Given the description of an element on the screen output the (x, y) to click on. 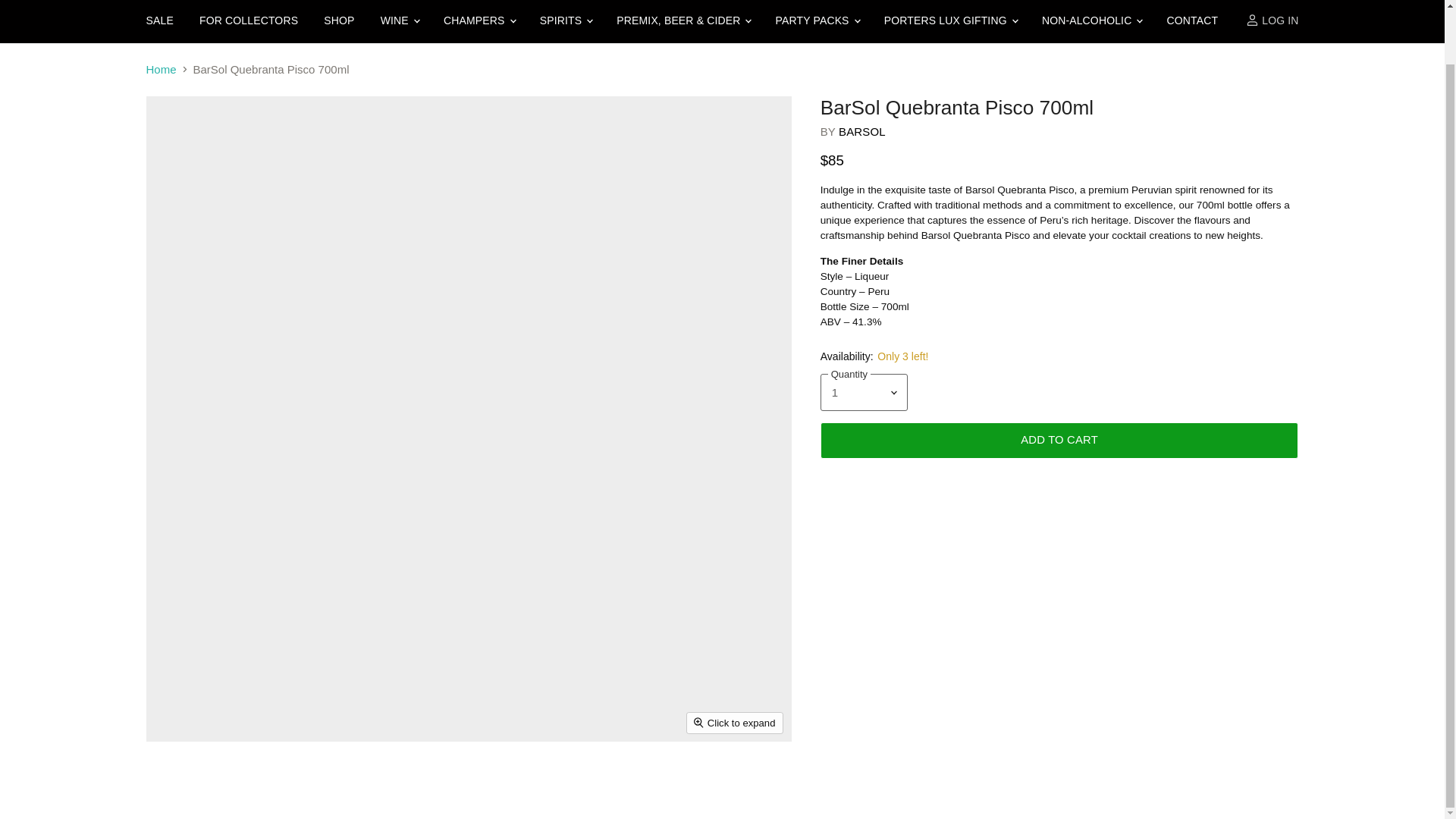
Pinterest (265, 570)
Instagram (210, 570)
www.porterslux.com.au (192, 535)
LinkedIn (237, 570)
Facebook (183, 570)
E-mail (156, 570)
TikTok (292, 570)
Email (191, 514)
